Given the description of an element on the screen output the (x, y) to click on. 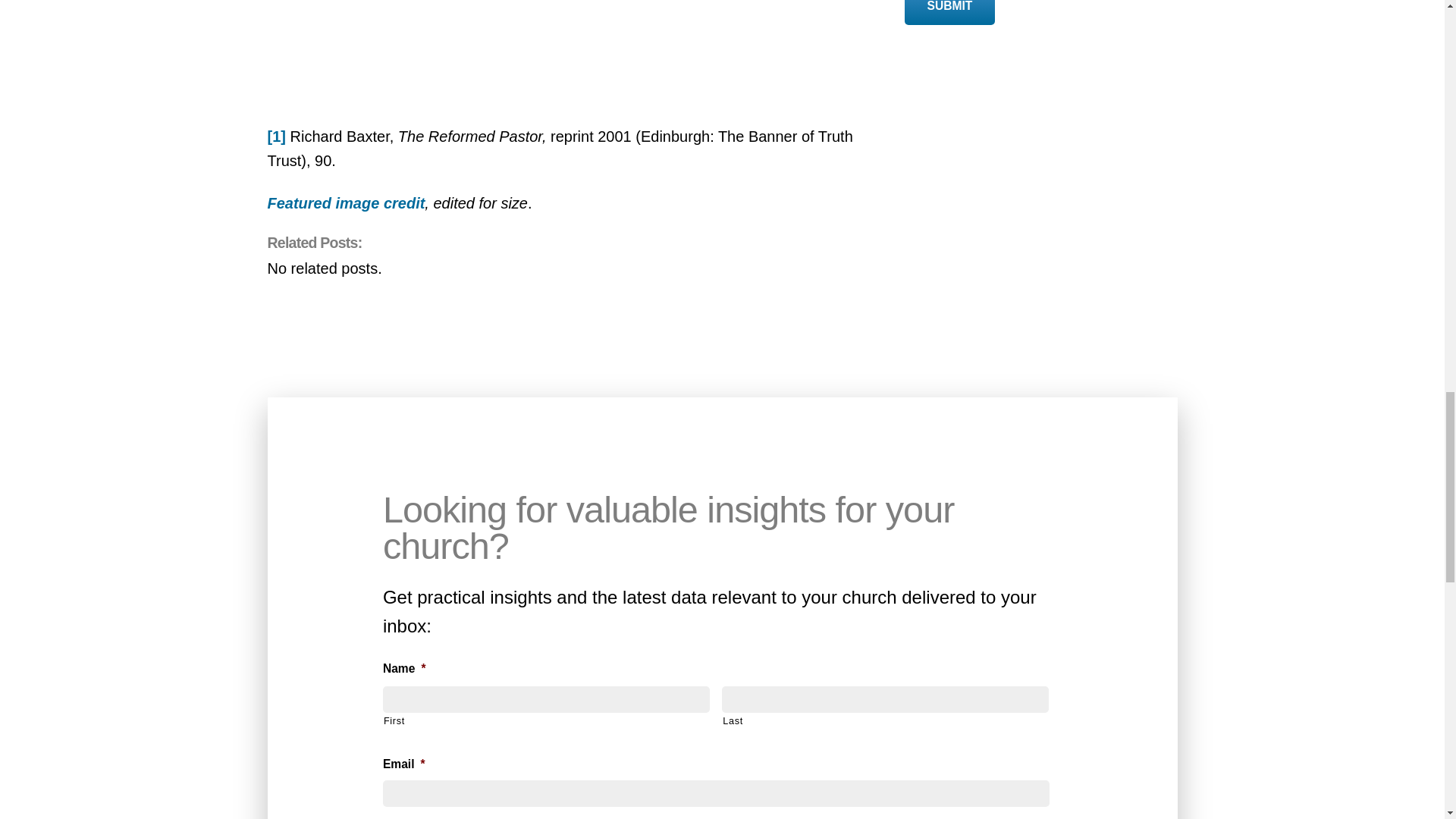
Submit (949, 12)
Featured image credit (345, 202)
